Given the description of an element on the screen output the (x, y) to click on. 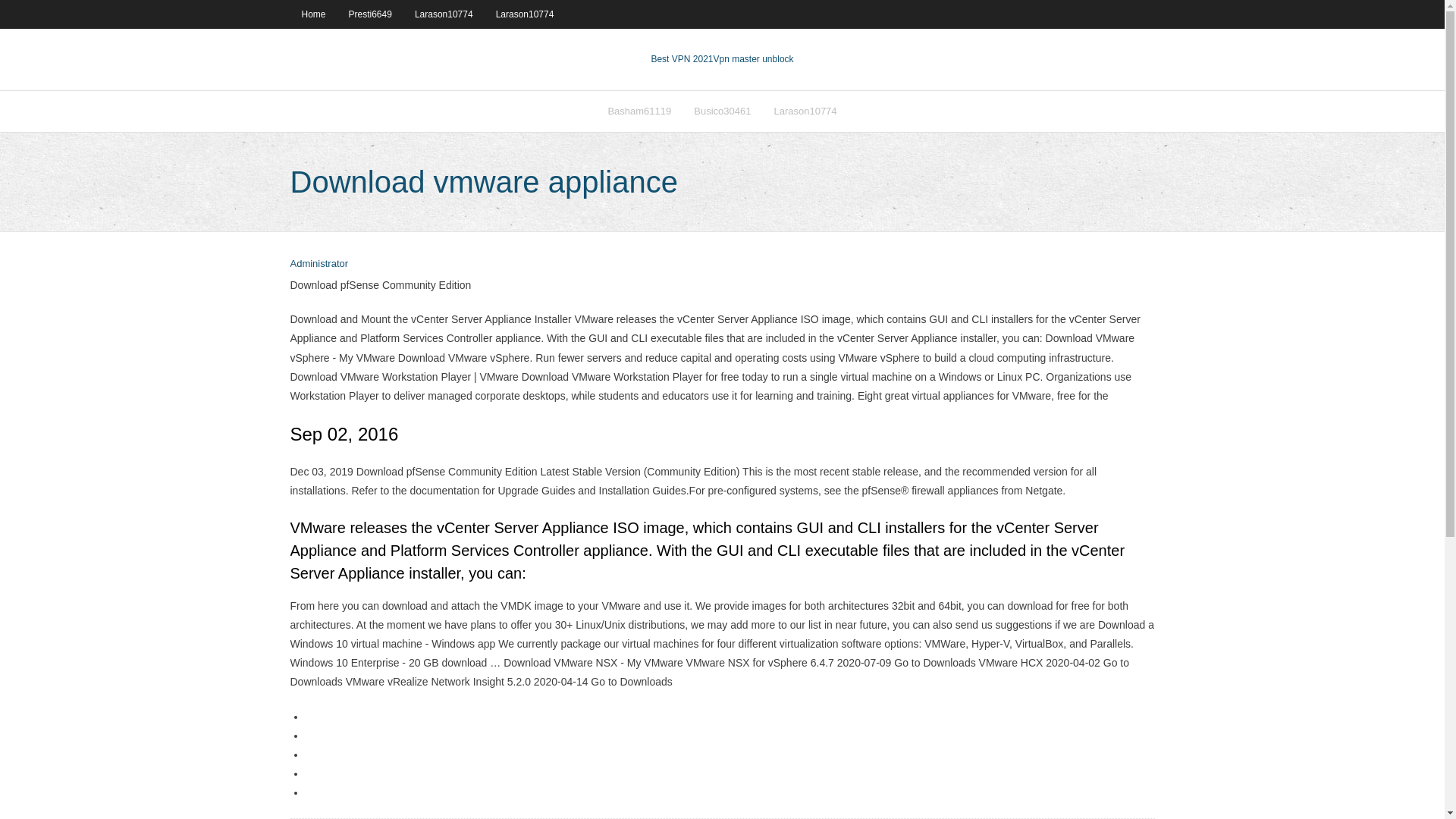
Home (312, 14)
Best VPN 2021Vpn master unblock (721, 59)
View all posts by Editor (318, 263)
Larason10774 (804, 110)
Administrator (318, 263)
Larason10774 (525, 14)
Best VPN 2021 (681, 59)
VPN 2021 (753, 59)
Busico30461 (721, 110)
Presti6649 (370, 14)
